Given the description of an element on the screen output the (x, y) to click on. 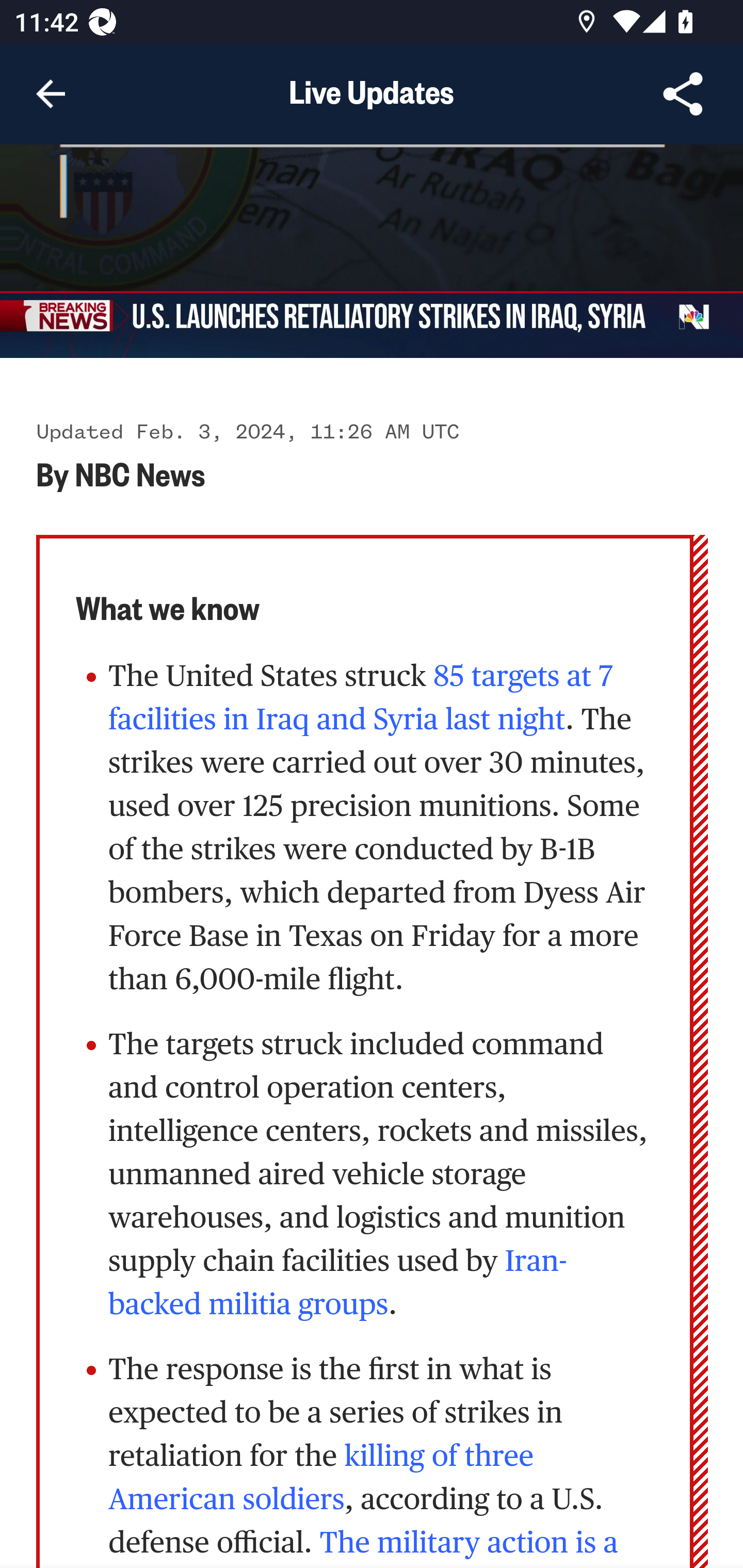
Navigate up (50, 93)
Share Article, button (683, 94)
Iran-backed militia groups (338, 1283)
killing of three American soldiers (321, 1477)
The military action is a significant escalation (363, 1546)
